Given the description of an element on the screen output the (x, y) to click on. 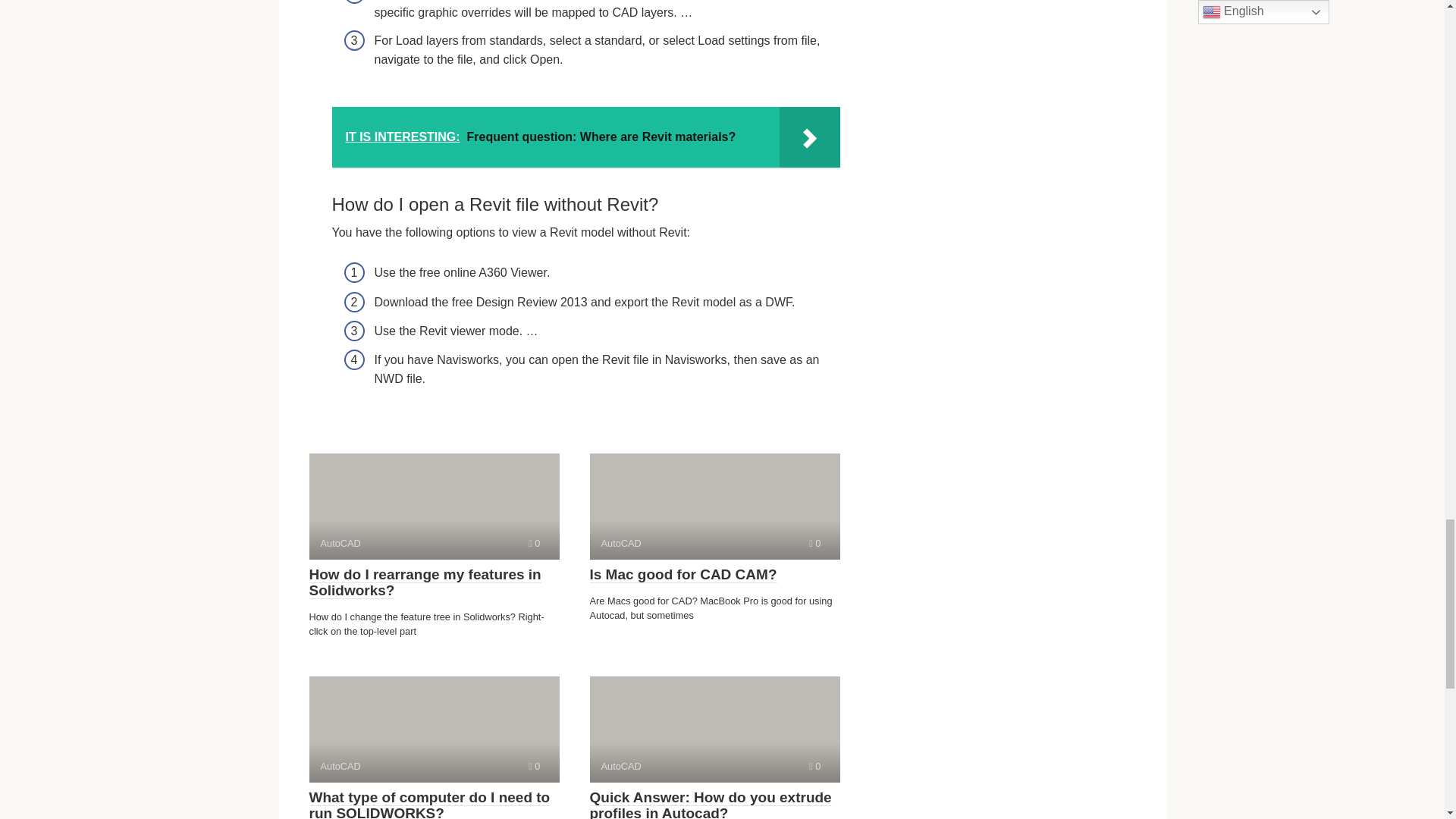
How do I rearrange my features in Solidworks? (424, 582)
Is Mac good for CAD CAM? (683, 574)
Comments (534, 542)
Comments (815, 542)
Comments (534, 766)
Comments (433, 506)
Quick Answer: How do you extrude profiles in Autocad? (815, 766)
